Given the description of an element on the screen output the (x, y) to click on. 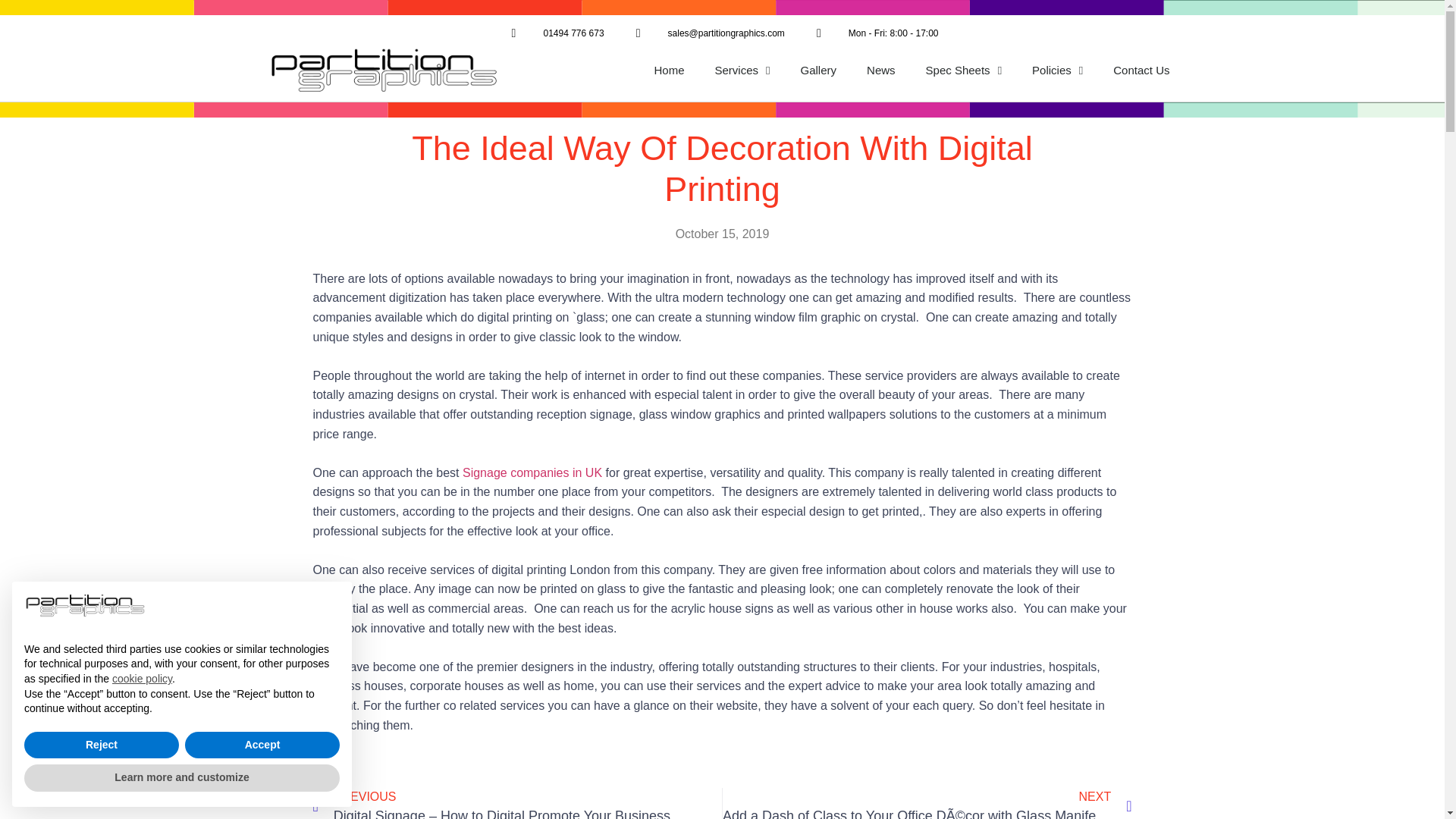
Contact Us (1141, 70)
Gallery (818, 70)
News (881, 70)
Policies (1056, 70)
Spec Sheets (964, 70)
Services (743, 70)
Home (668, 70)
01494 776 673 (554, 33)
